Given the description of an element on the screen output the (x, y) to click on. 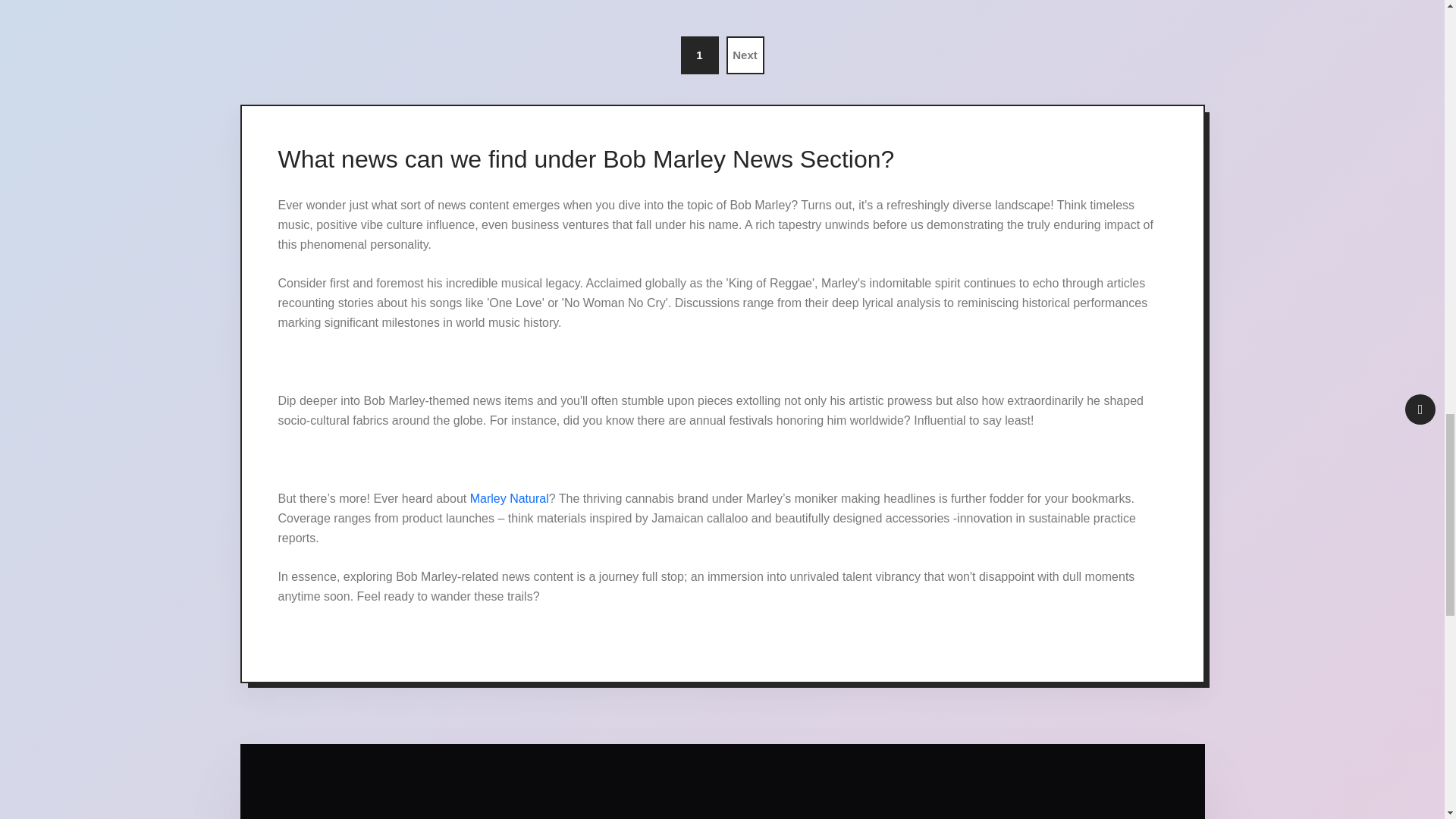
Marley Natural (509, 498)
Next (745, 55)
1 (700, 55)
